Given the description of an element on the screen output the (x, y) to click on. 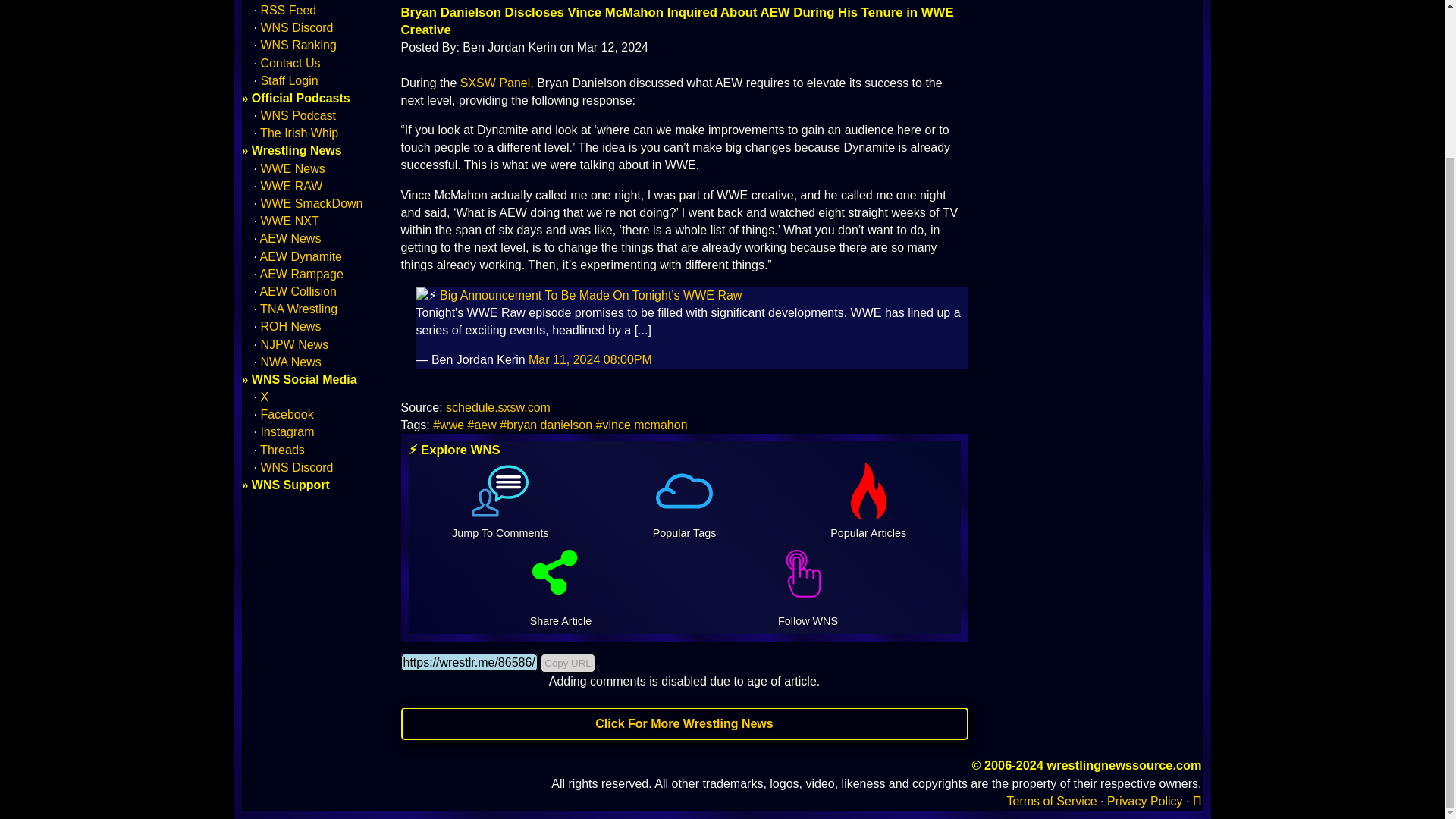
ROH News (290, 326)
AEW Collision (298, 291)
NWA News (290, 361)
WNS Discord (296, 27)
The Irish Whip (298, 132)
Staff Login (288, 80)
AEW News (290, 237)
Instagram (287, 431)
NJPW News (294, 344)
AEW Rampage (301, 273)
